Given the description of an element on the screen output the (x, y) to click on. 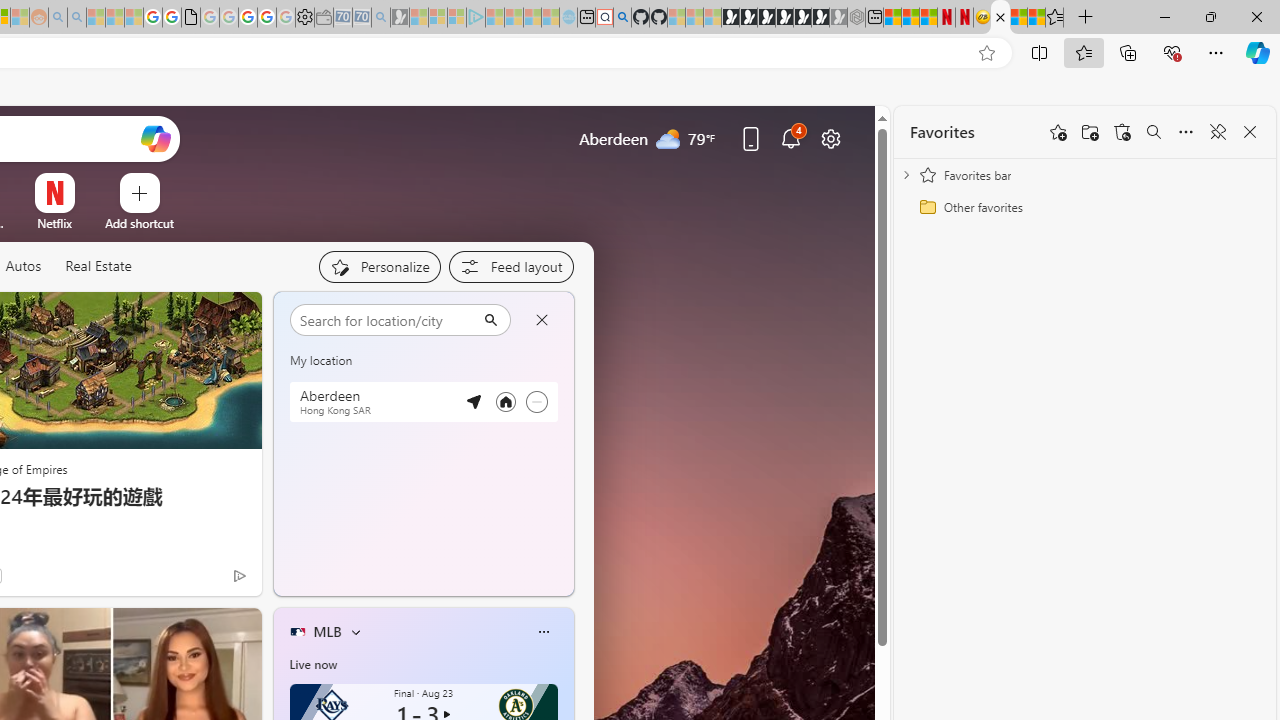
Class: weather-current-precipitation-glyph (522, 543)
Personalize your feed" (379, 266)
Add a site (139, 223)
See full forecast (502, 579)
UV will be very high starting at 12 PM (551, 367)
tab-1 (306, 579)
Close favorites (1250, 132)
Daily (378, 411)
Mostly cloudy (311, 368)
